Given the description of an element on the screen output the (x, y) to click on. 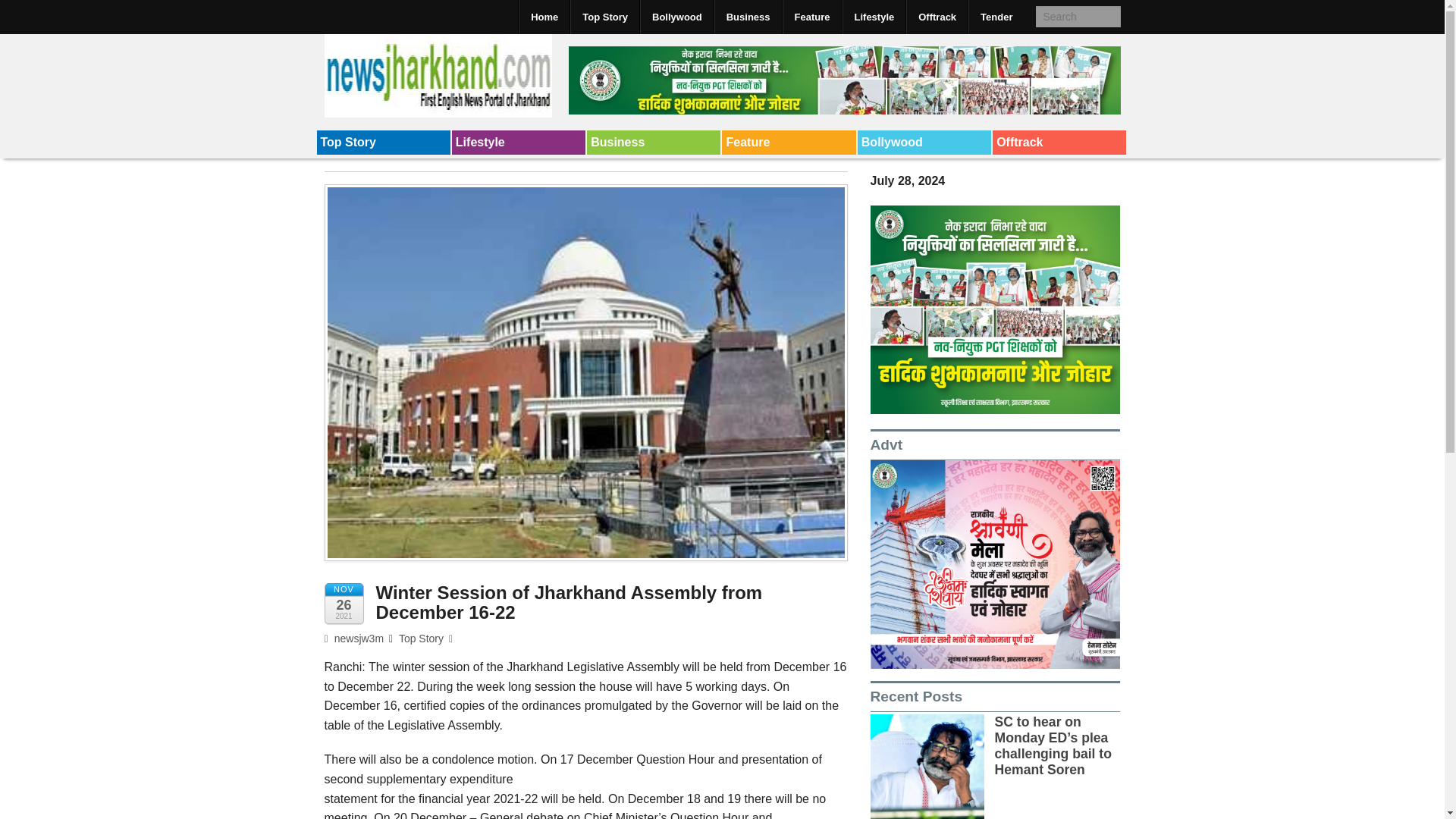
View all posts by newsjw3m (354, 638)
Top Story (383, 142)
Lifestyle (874, 17)
Business (653, 142)
Top Story (383, 142)
Bollywood (924, 142)
Feature (812, 17)
Offtrack (937, 17)
Bollywood (676, 17)
Tender (996, 17)
Bollywood (924, 142)
Business (653, 142)
Home (544, 17)
Feature (789, 142)
